Given the description of an element on the screen output the (x, y) to click on. 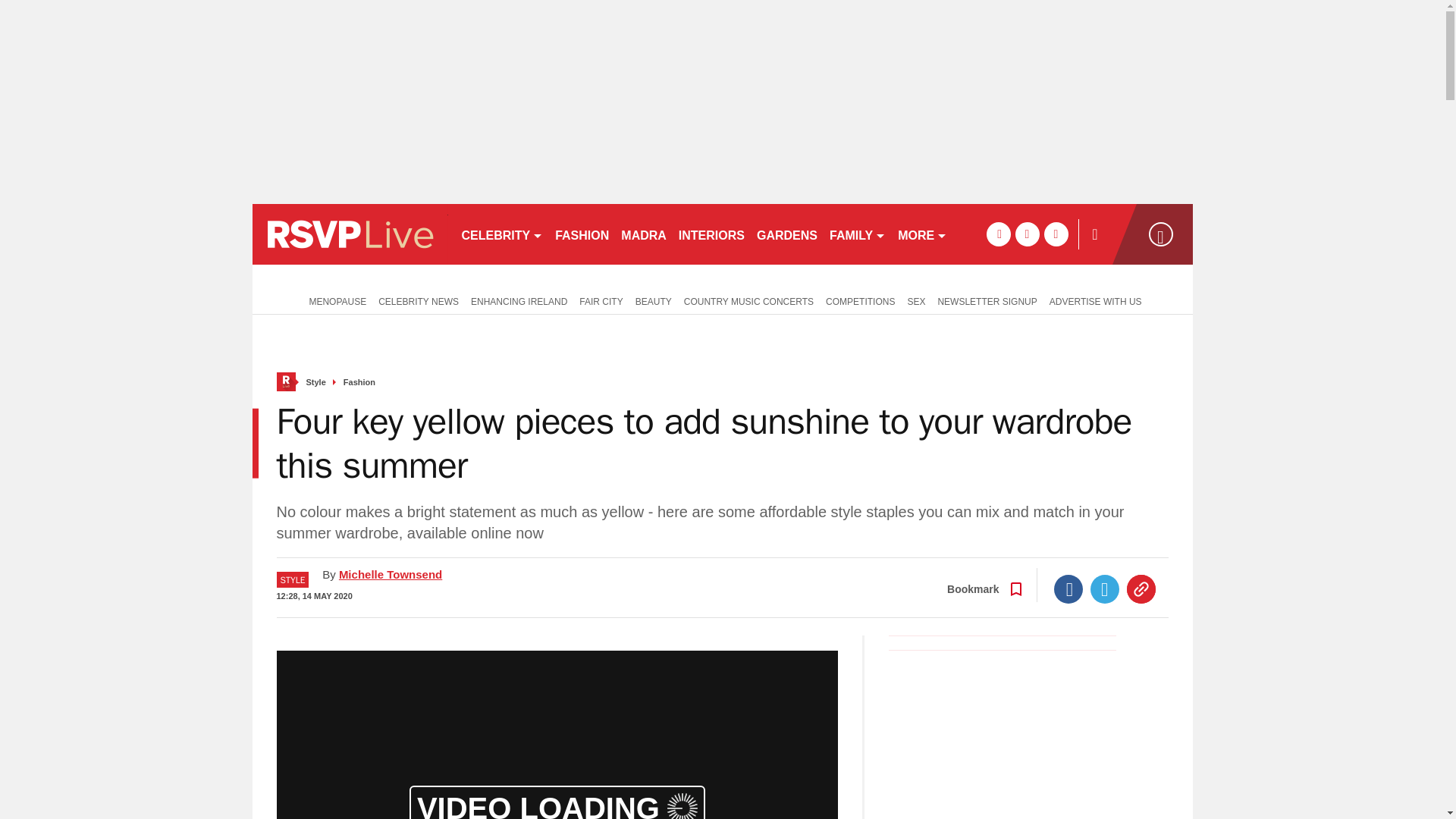
FASHION (581, 233)
MORE (922, 233)
instagram (1055, 233)
Facebook (1068, 588)
GARDENS (787, 233)
MADRA (643, 233)
rsvp (348, 233)
CELEBRITY (501, 233)
INTERIORS (711, 233)
twitter (1026, 233)
